Given the description of an element on the screen output the (x, y) to click on. 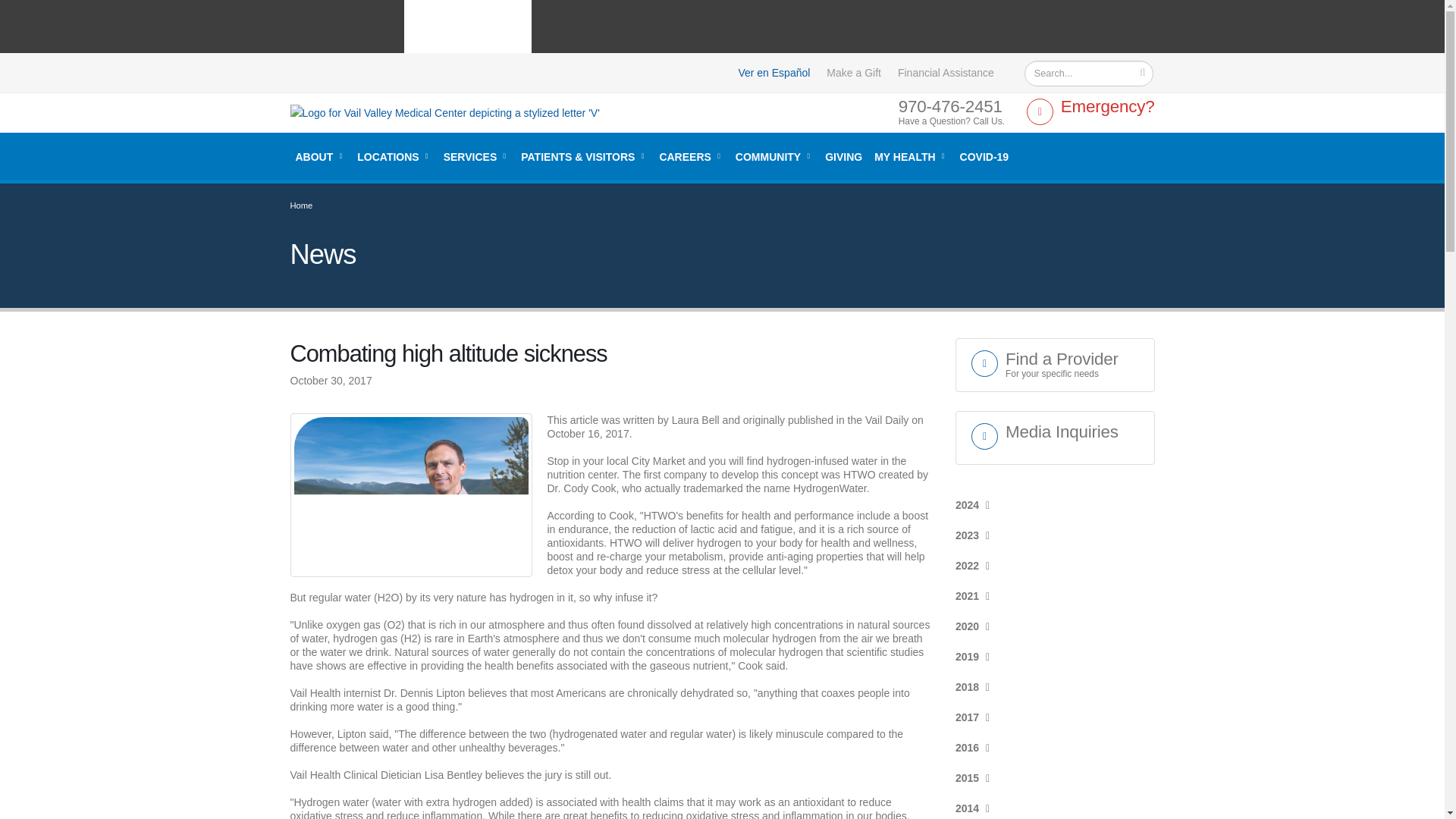
Financial Assistance (945, 72)
LOCATIONS (1090, 112)
ABOUT (393, 156)
Make a Gift (319, 156)
